Given the description of an element on the screen output the (x, y) to click on. 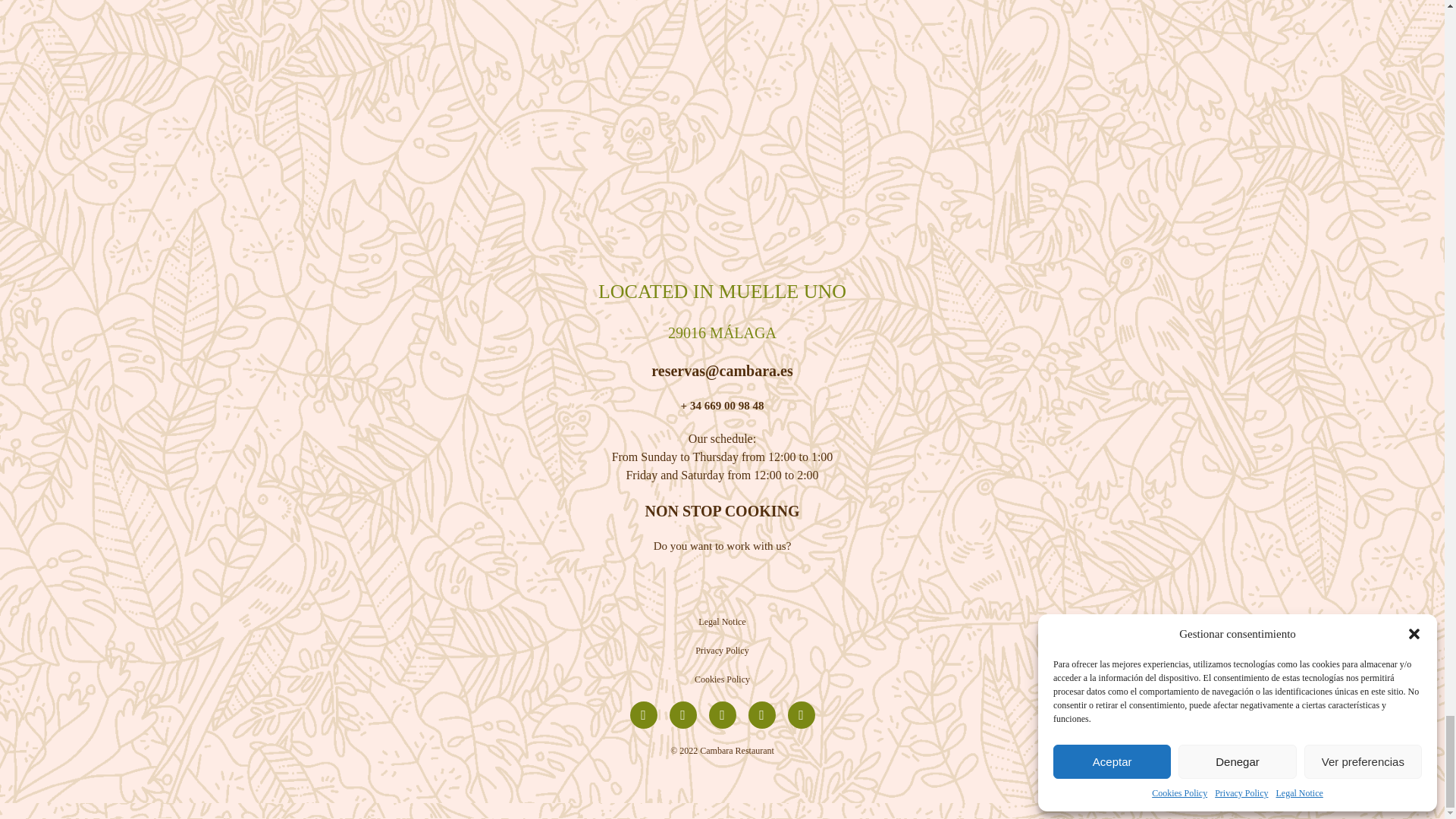
Legal Notice (721, 621)
Do you want to work with us? (722, 545)
